Given the description of an element on the screen output the (x, y) to click on. 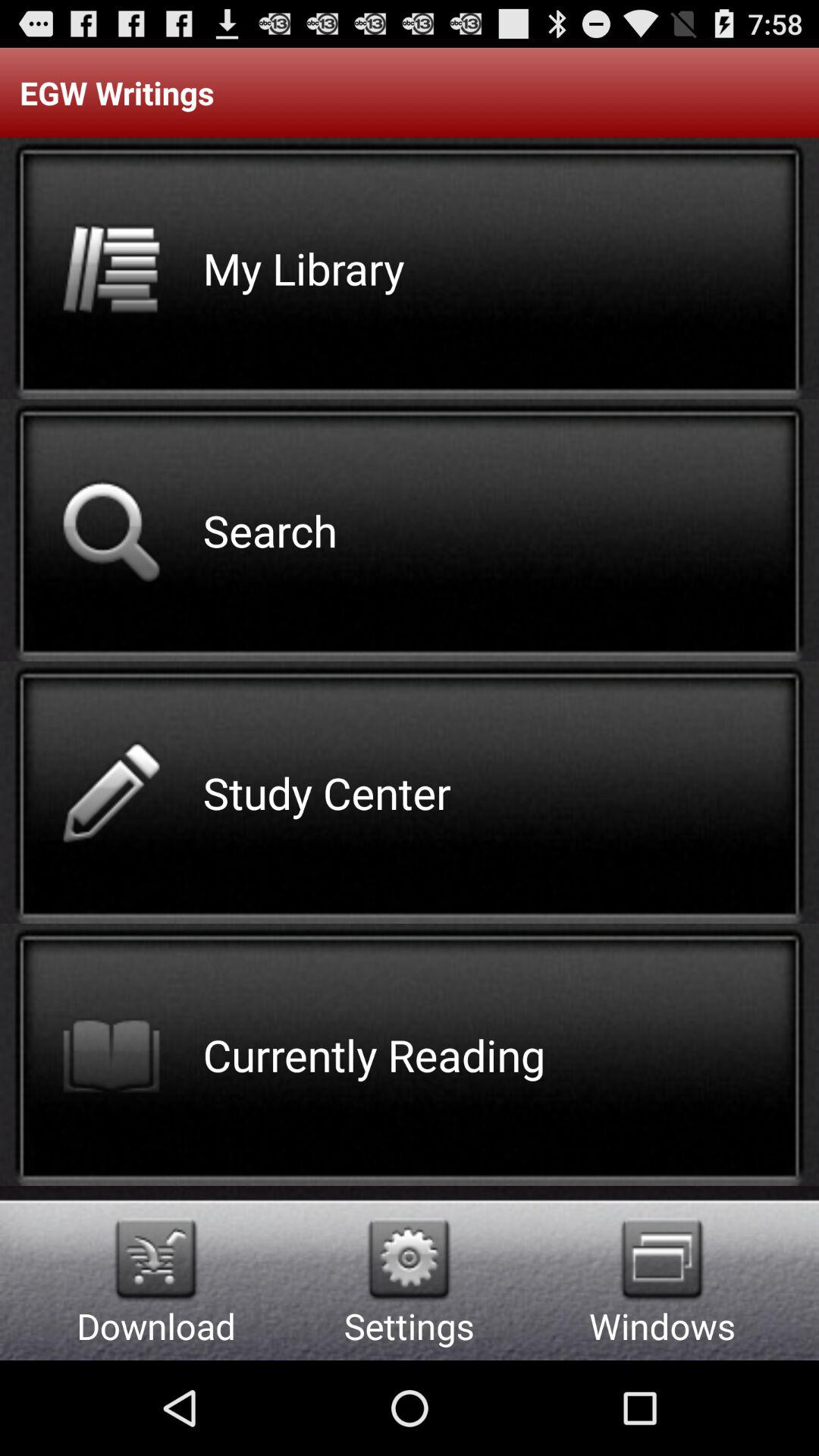
launch the app next to download icon (409, 1258)
